Given the description of an element on the screen output the (x, y) to click on. 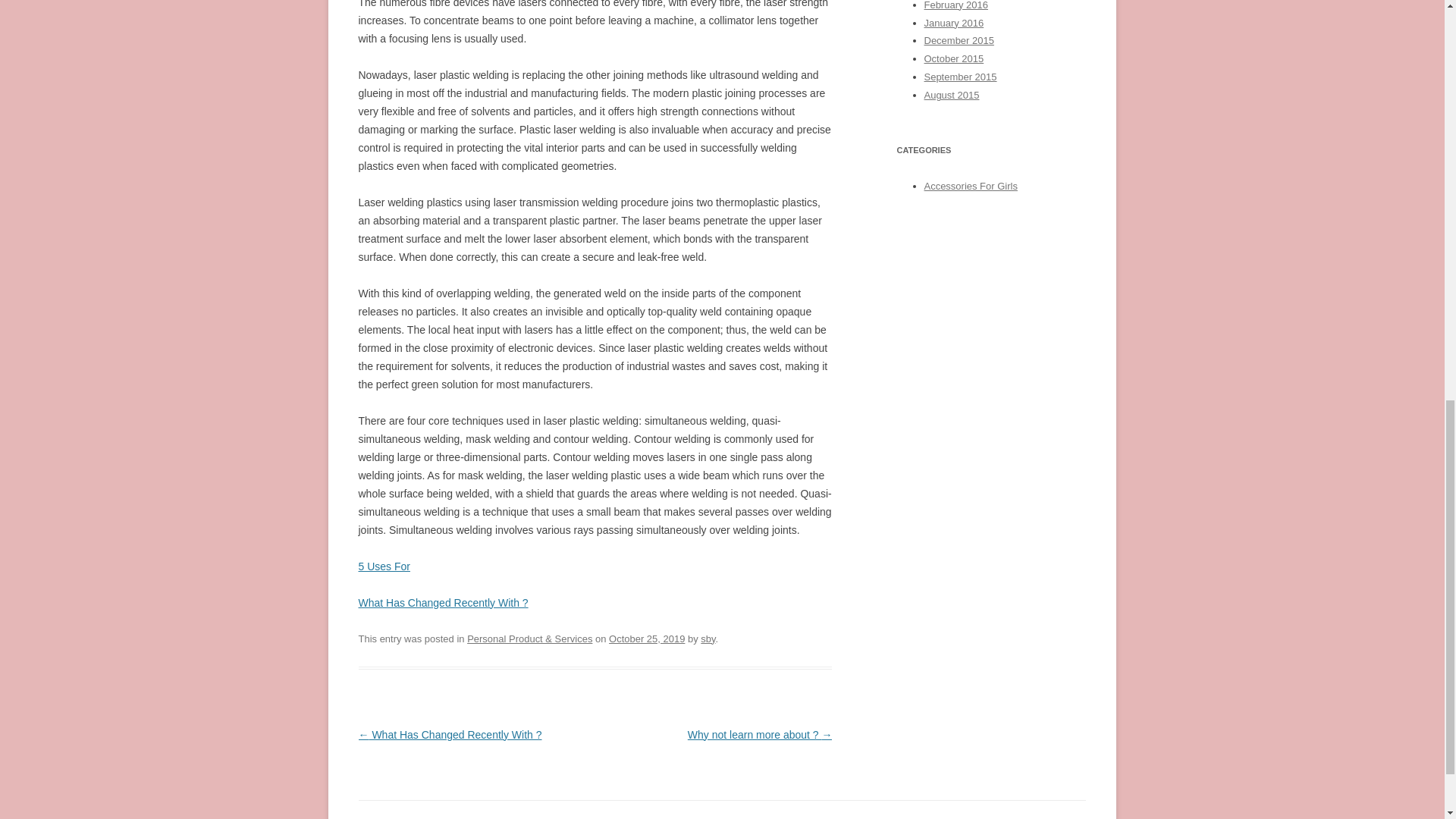
Accessories For Girls (969, 185)
September 2015 (959, 76)
What Has Changed Recently With ? (442, 603)
View all posts by sby (707, 638)
October 2015 (953, 58)
January 2016 (953, 21)
August 2015 (950, 94)
December 2015 (957, 40)
8:53 pm (646, 638)
October 25, 2019 (646, 638)
February 2016 (955, 5)
sby (707, 638)
5 Uses For (383, 566)
